Given the description of an element on the screen output the (x, y) to click on. 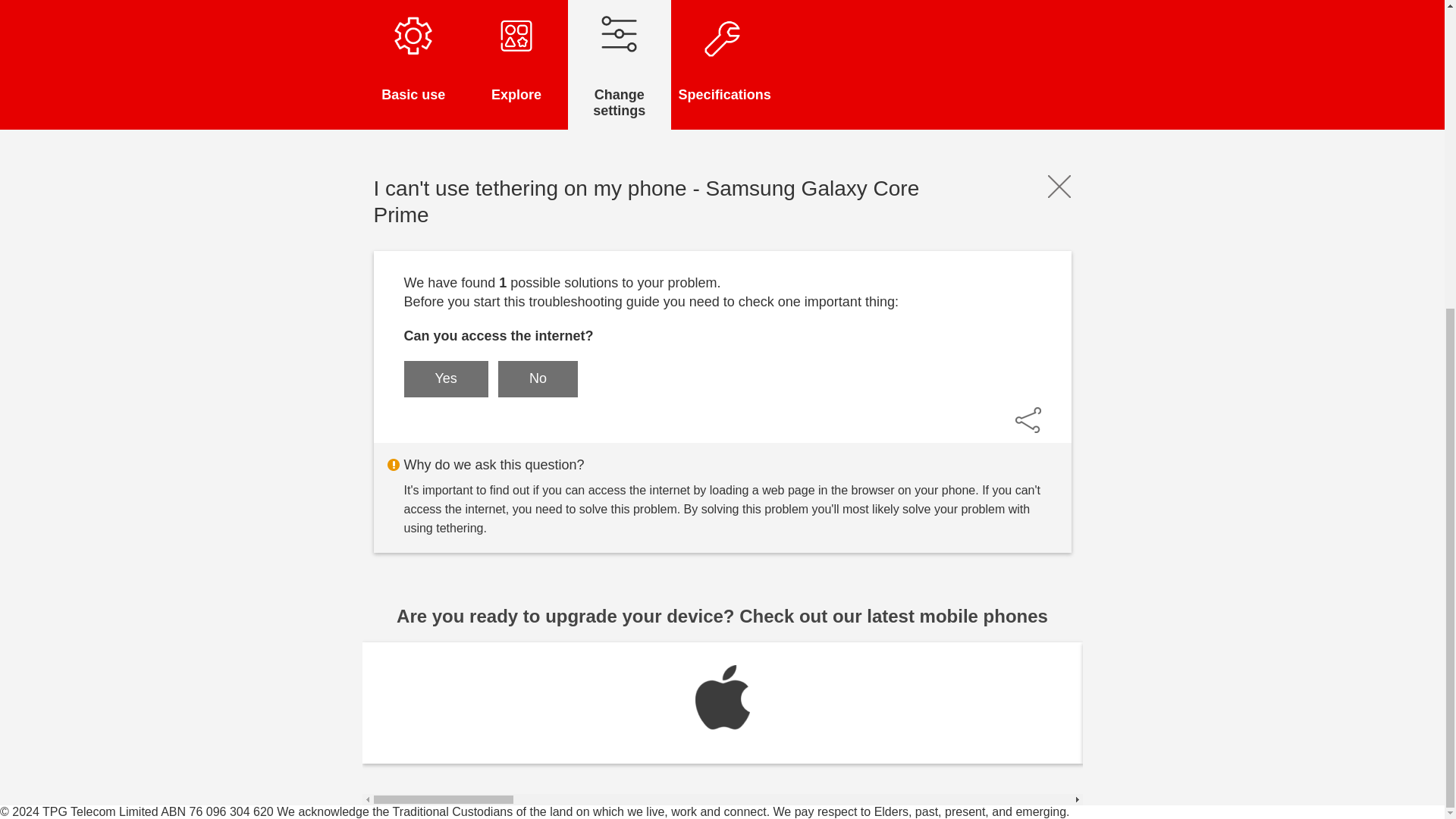
Yes (445, 379)
No (537, 379)
